Given the description of an element on the screen output the (x, y) to click on. 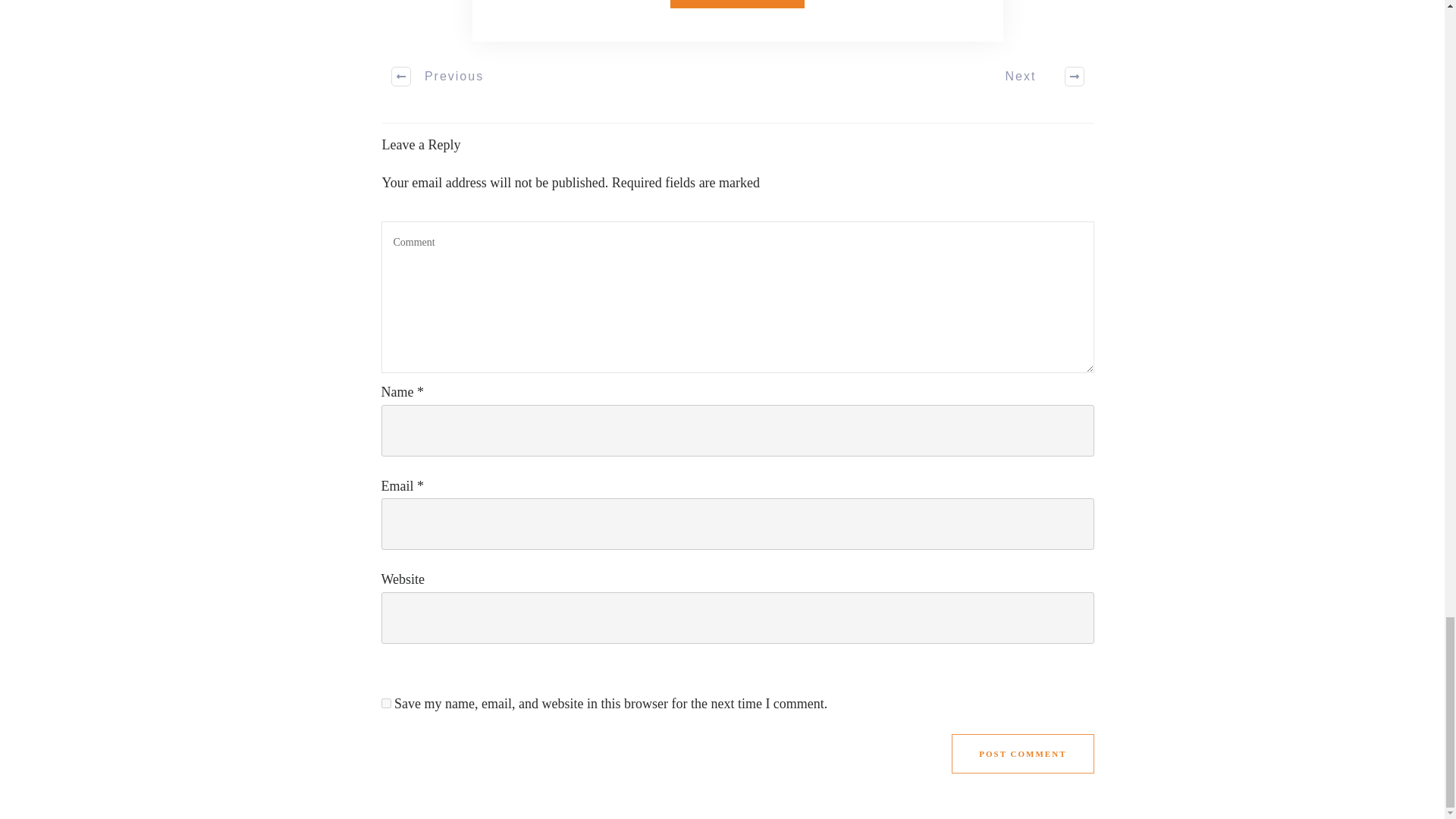
Send message (737, 4)
POST COMMENT (1022, 753)
yes (385, 703)
Next (1036, 76)
Previous (438, 76)
